Given the description of an element on the screen output the (x, y) to click on. 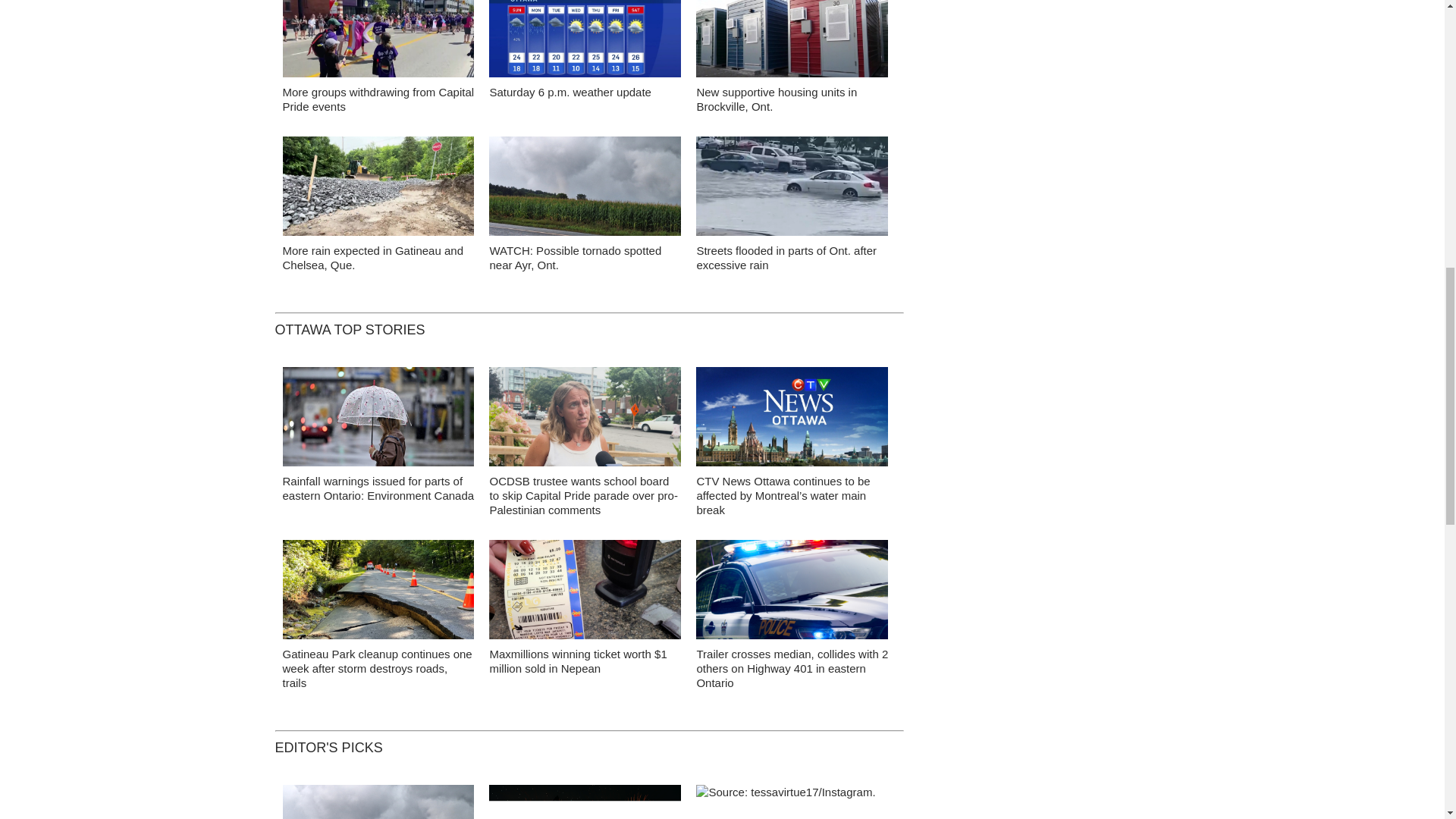
Streets flooded in parts of Ont. after excessive rain (785, 257)
More rain expected in Gatineau and Chelsea, Que. (372, 257)
false (378, 185)
Saturday 6 p.m. weather update (569, 91)
false (791, 38)
false (378, 38)
New supportive housing units in Brockville, Ont. (776, 99)
false (791, 185)
